Given the description of an element on the screen output the (x, y) to click on. 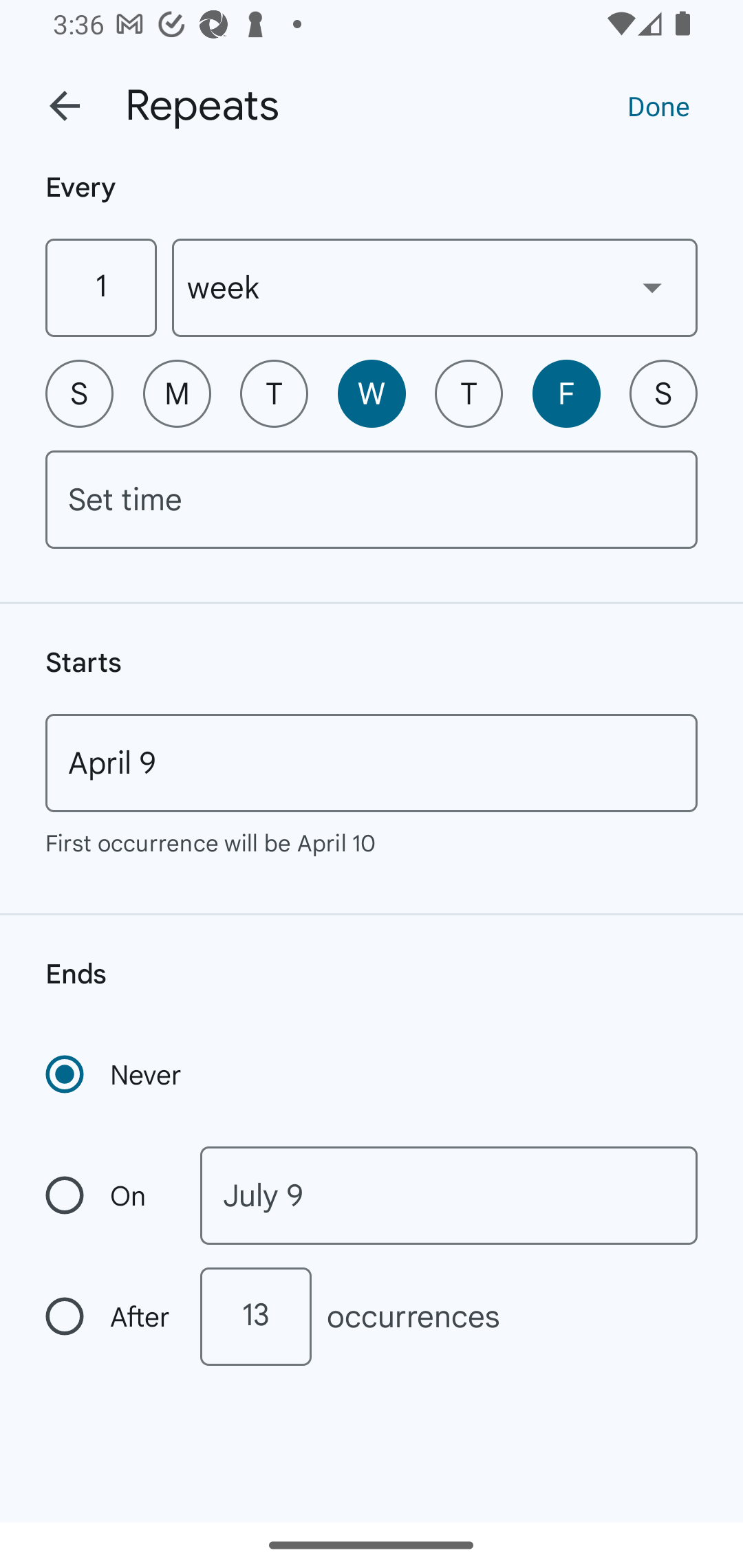
Back (64, 105)
Done (658, 105)
1 (100, 287)
week (434, 287)
Show dropdown menu (652, 286)
S Sunday (79, 393)
M Monday (177, 393)
T Tuesday (273, 393)
W Wednesday, selected (371, 393)
T Thursday (468, 393)
F Friday, selected (566, 393)
S Saturday (663, 393)
Set time (371, 499)
April 9 (371, 762)
Never Recurrence never ends (115, 1074)
July 9 (448, 1195)
On Recurrence ends on a specific date (109, 1195)
13 (255, 1315)
